Given the description of an element on the screen output the (x, y) to click on. 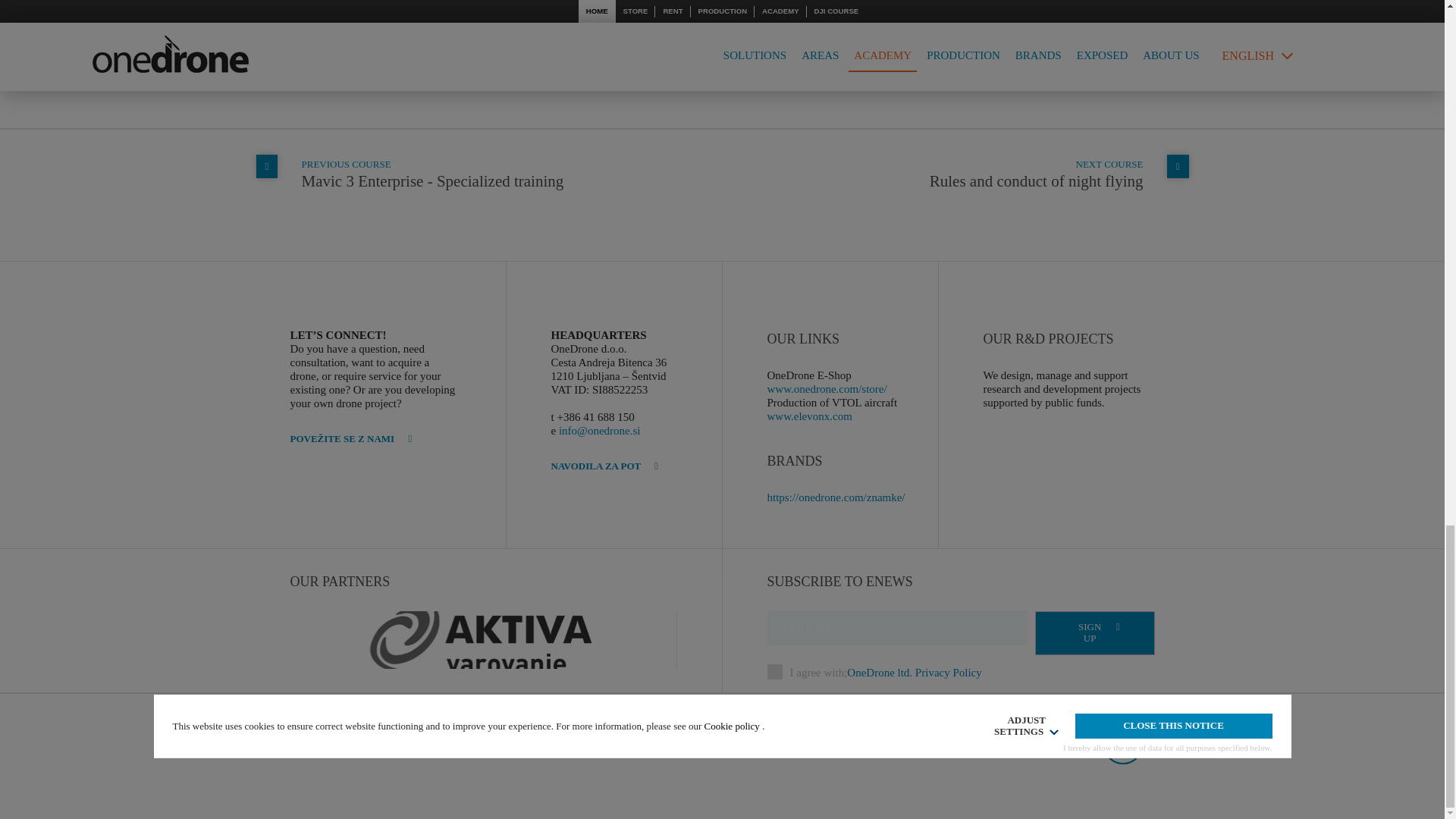
Mavic 3 Enterprise - Specialized training (432, 173)
Rules and conduct of night flying (1036, 173)
Politika zasebnosti (1036, 173)
OneDrone ltd. Privacy Policy (583, 744)
NAVODILA ZA POT (914, 672)
www.elevonx.com (432, 173)
Get in touch! (604, 465)
SIGN UP (809, 416)
